Given the description of an element on the screen output the (x, y) to click on. 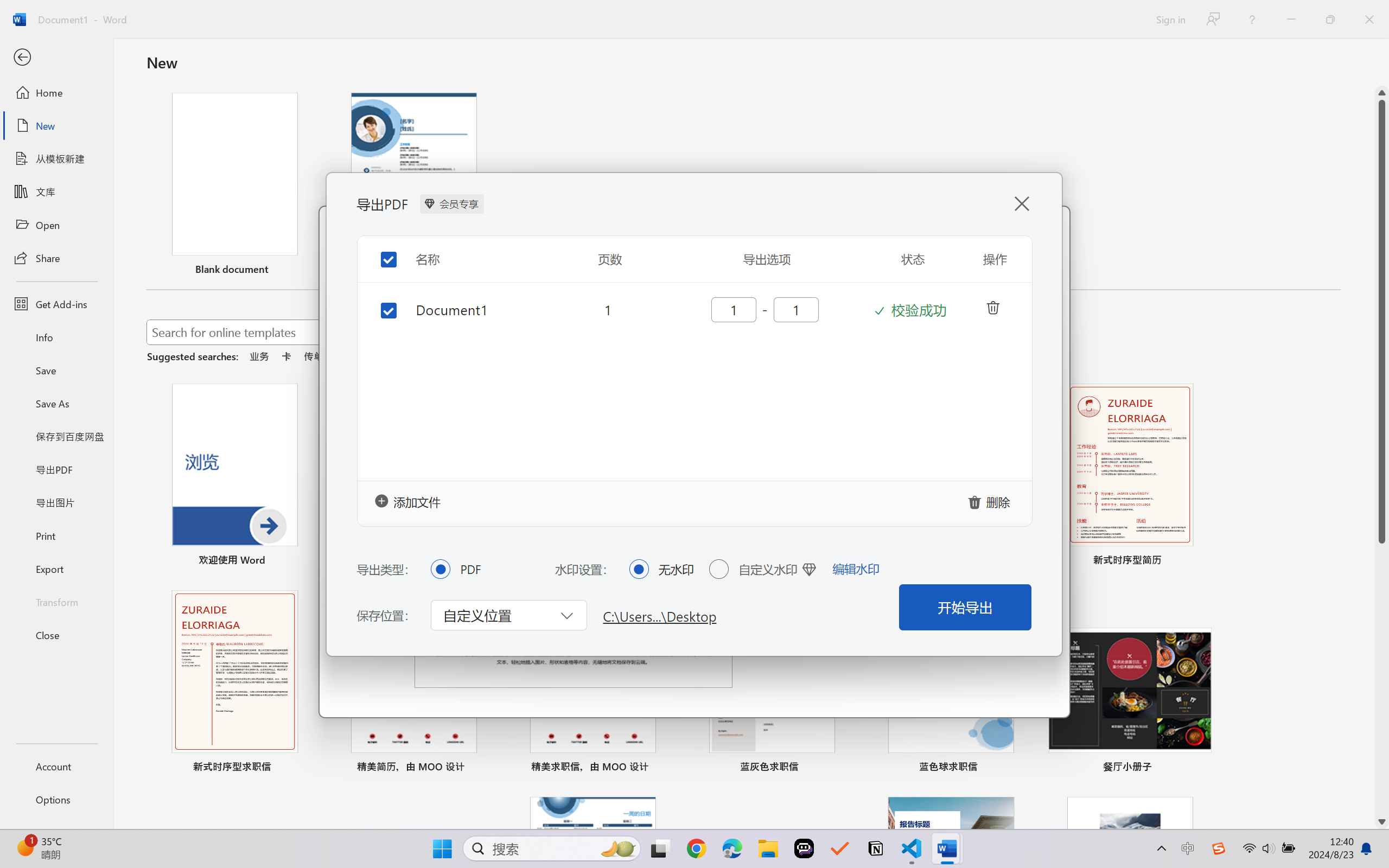
Transform (56, 601)
Print (56, 535)
Line up (1382, 92)
